Given the description of an element on the screen output the (x, y) to click on. 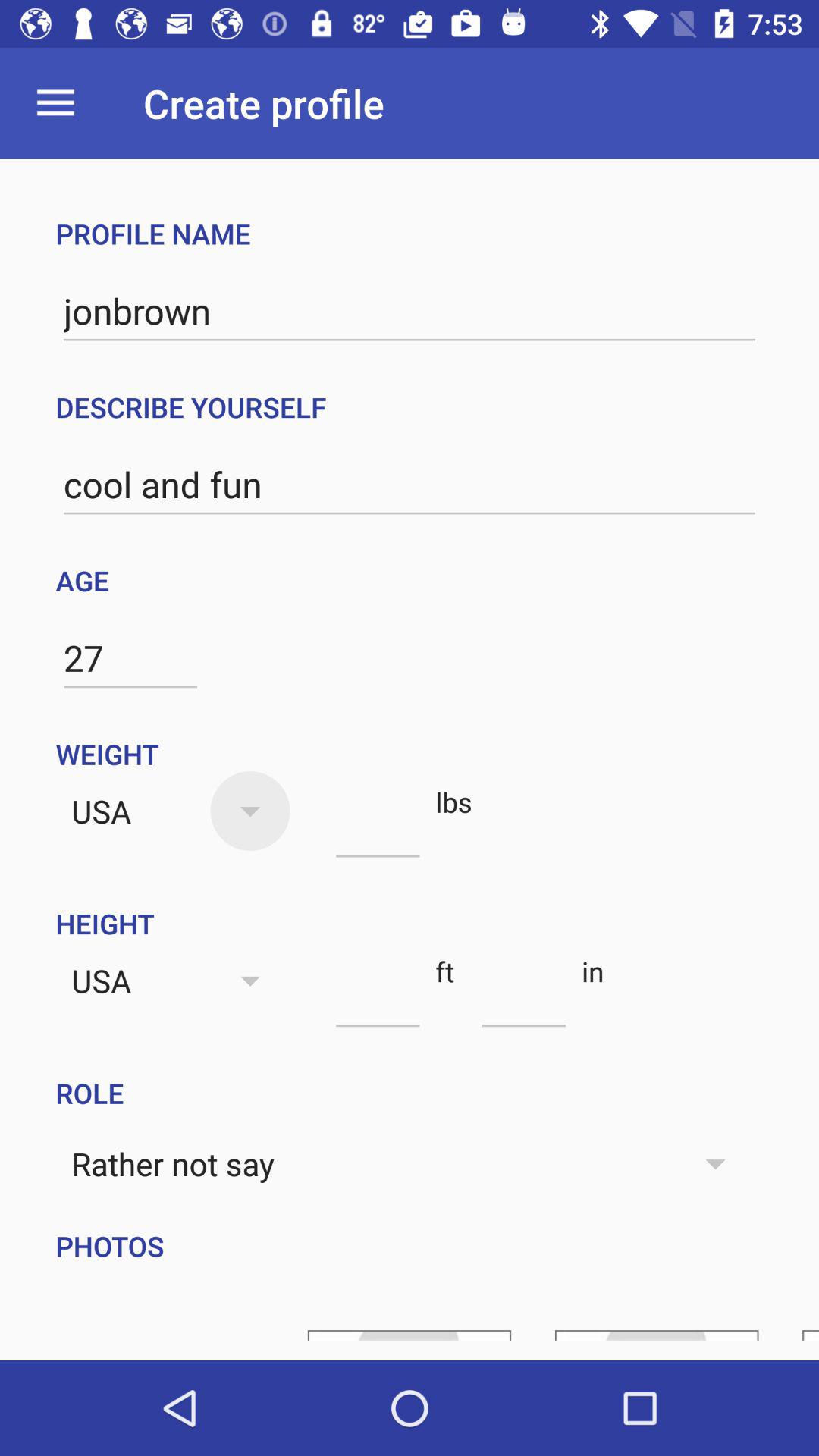
click icon next to the create profile icon (55, 103)
